Given the description of an element on the screen output the (x, y) to click on. 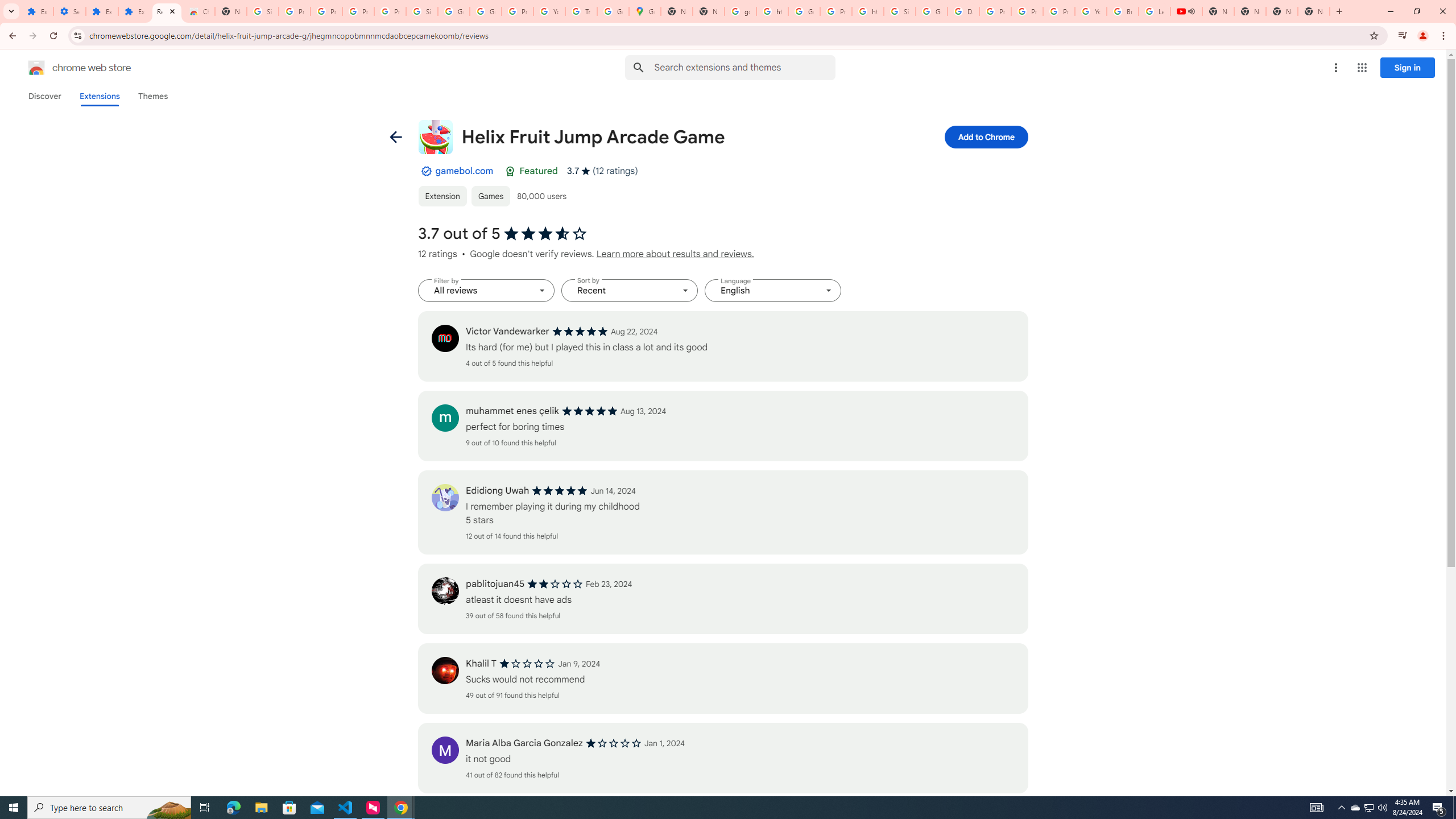
Chrome Web Store logo (36, 67)
Games (490, 195)
Sign in - Google Accounts (421, 11)
5 out of 5 stars (559, 490)
Featured Badge (510, 170)
New Tab (230, 11)
Navigate back to item detail page (395, 136)
Review's profile picture (444, 750)
